Given the description of an element on the screen output the (x, y) to click on. 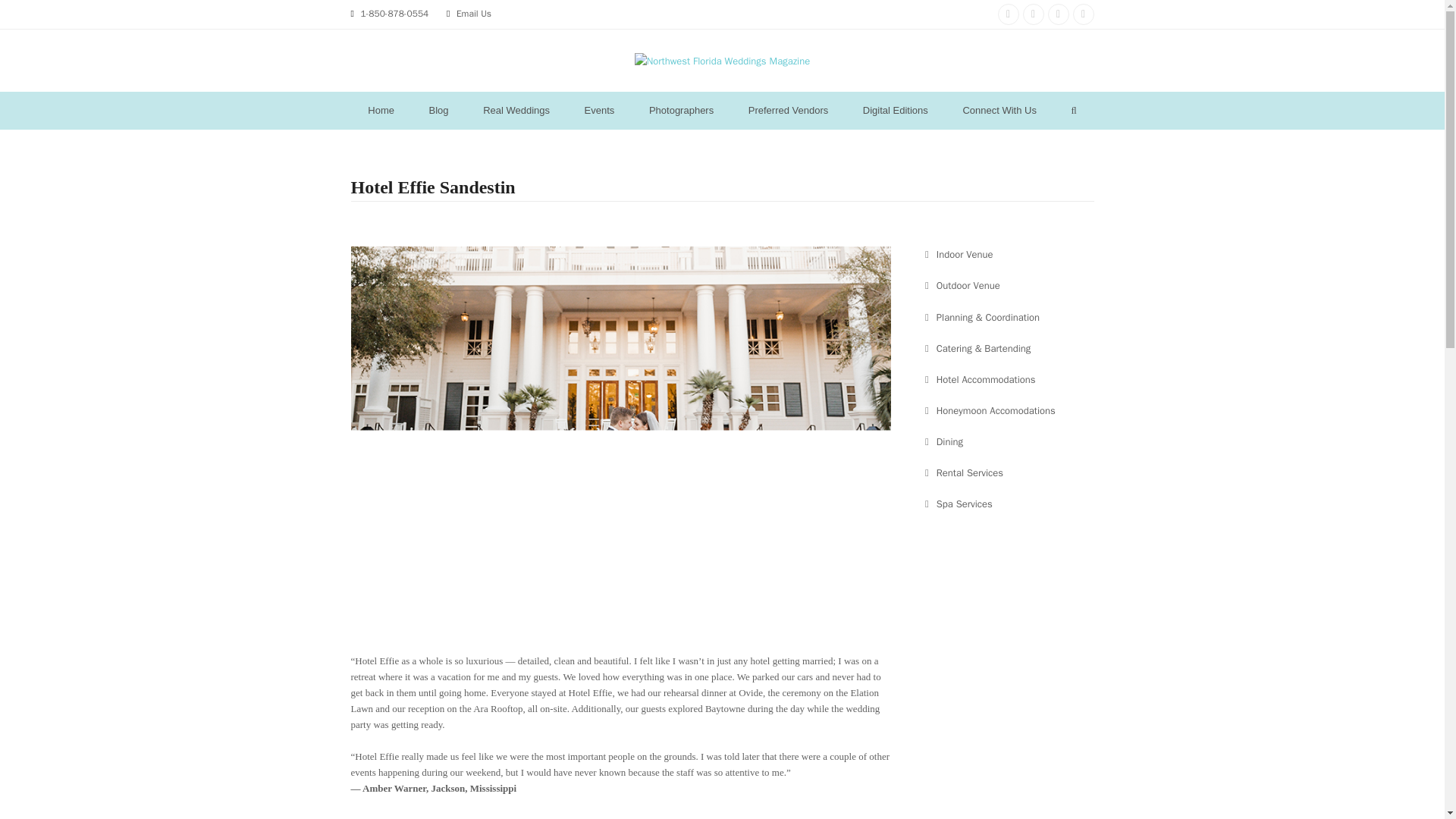
Facebook (1032, 14)
Preferred Vendors (787, 110)
Real Weddings (515, 110)
Blog (438, 110)
Photographers (680, 110)
Pinterest (1058, 14)
Twitter (1082, 14)
Digital Editions (894, 110)
Pinterest (1058, 14)
Connect With Us (999, 110)
